Given the description of an element on the screen output the (x, y) to click on. 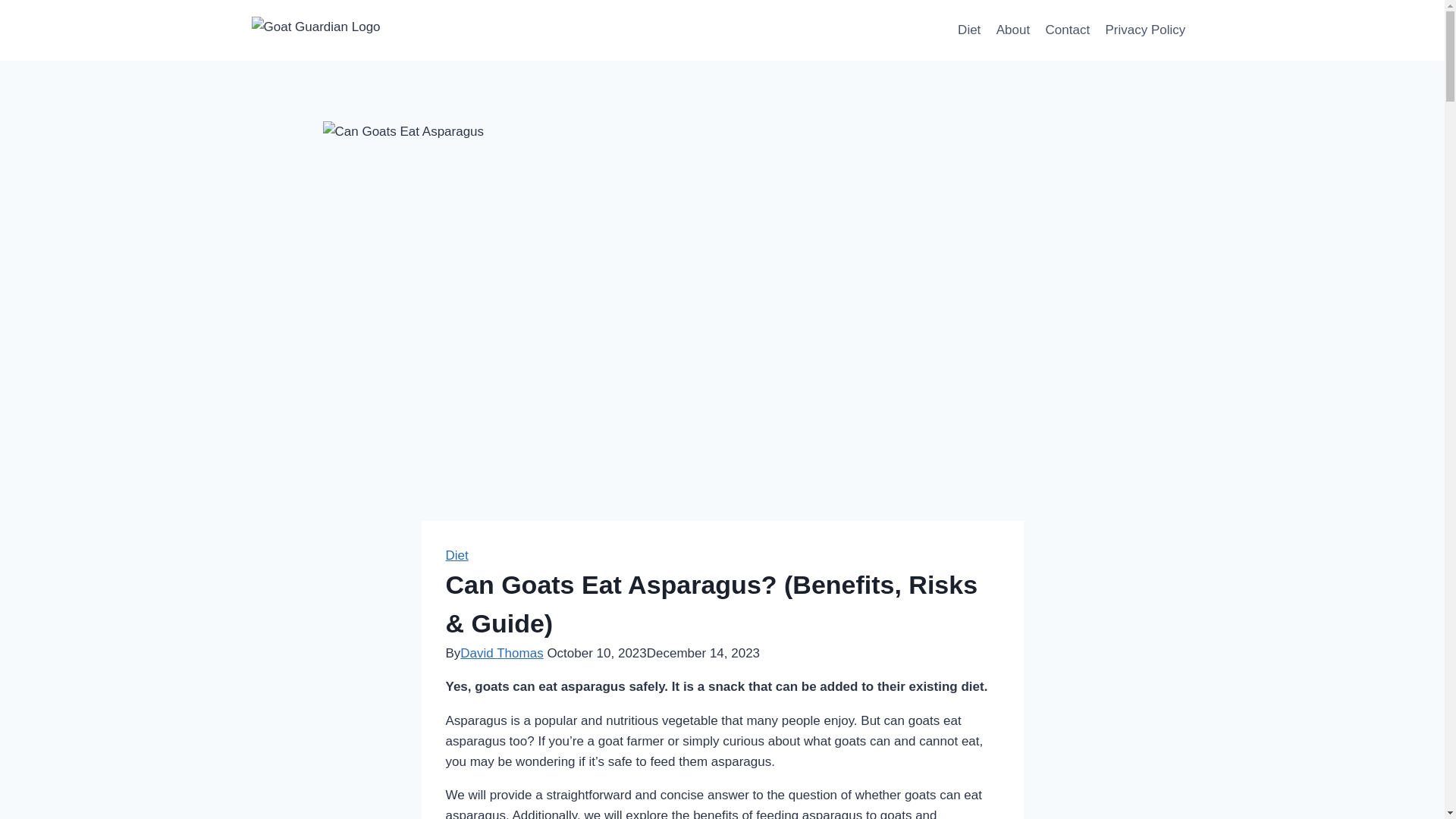
Privacy Policy (1144, 30)
About (1013, 30)
Diet (969, 30)
Contact (1066, 30)
David Thomas (501, 653)
Diet (456, 554)
